Given the description of an element on the screen output the (x, y) to click on. 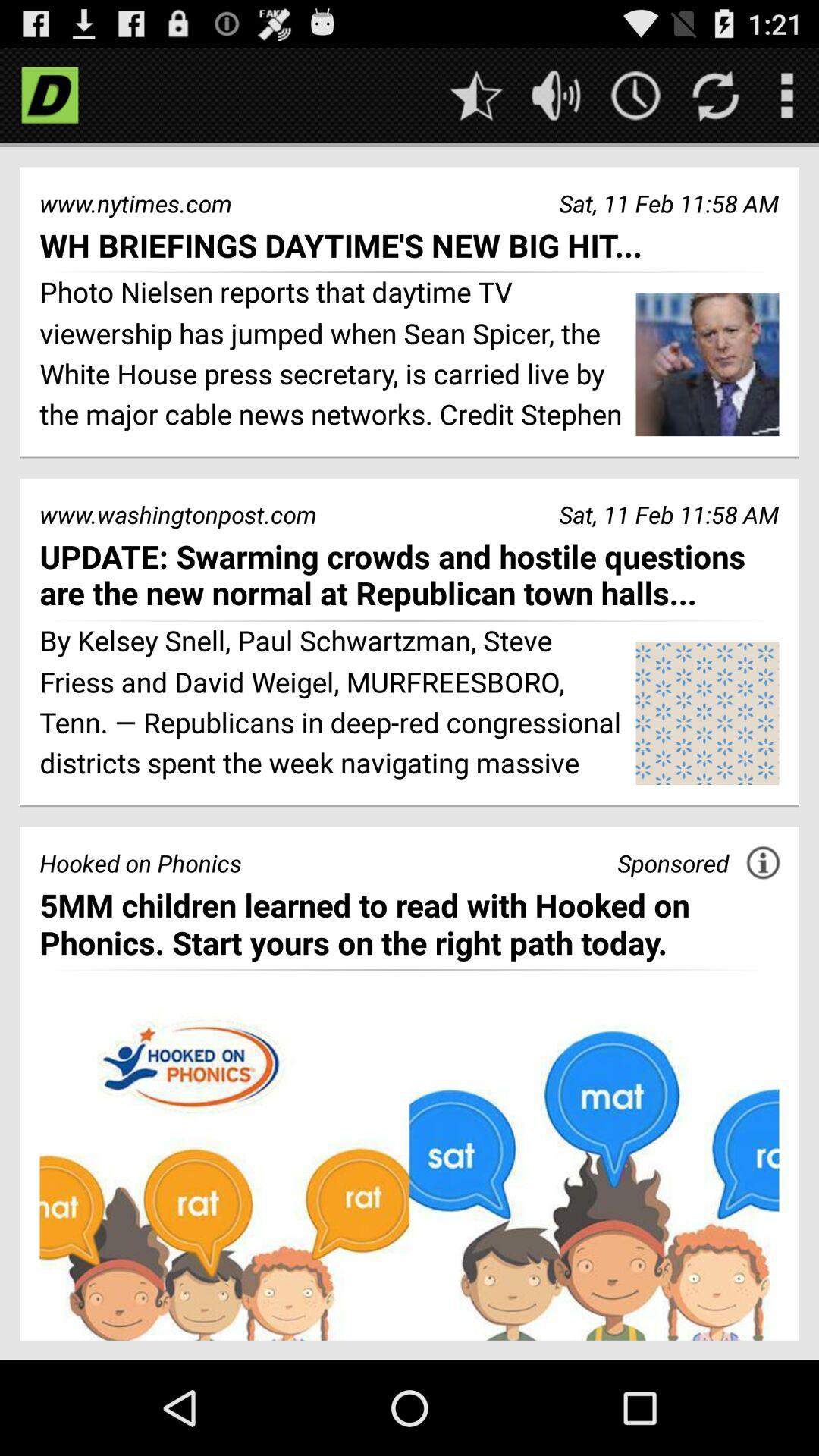
tap the app next to sponsored item (763, 862)
